Given the description of an element on the screen output the (x, y) to click on. 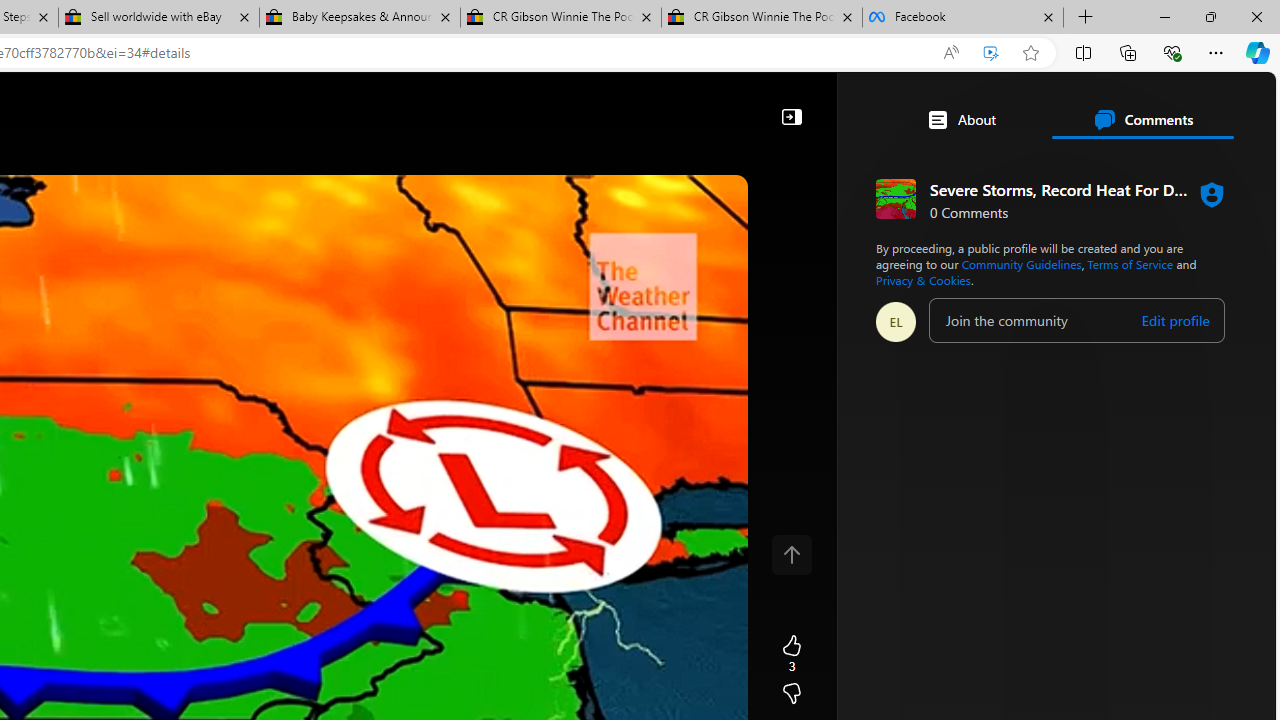
Class: control icon-only (791, 554)
ABC News (777, 557)
Notifications (1192, 105)
Profile Picture (895, 321)
Facebook (962, 17)
Baby Keepsakes & Announcements for sale | eBay (359, 17)
Open Copilot (356, 105)
Ad Choice (1015, 439)
Privacy & Cookies (923, 280)
Reuters (777, 645)
